Given the description of an element on the screen output the (x, y) to click on. 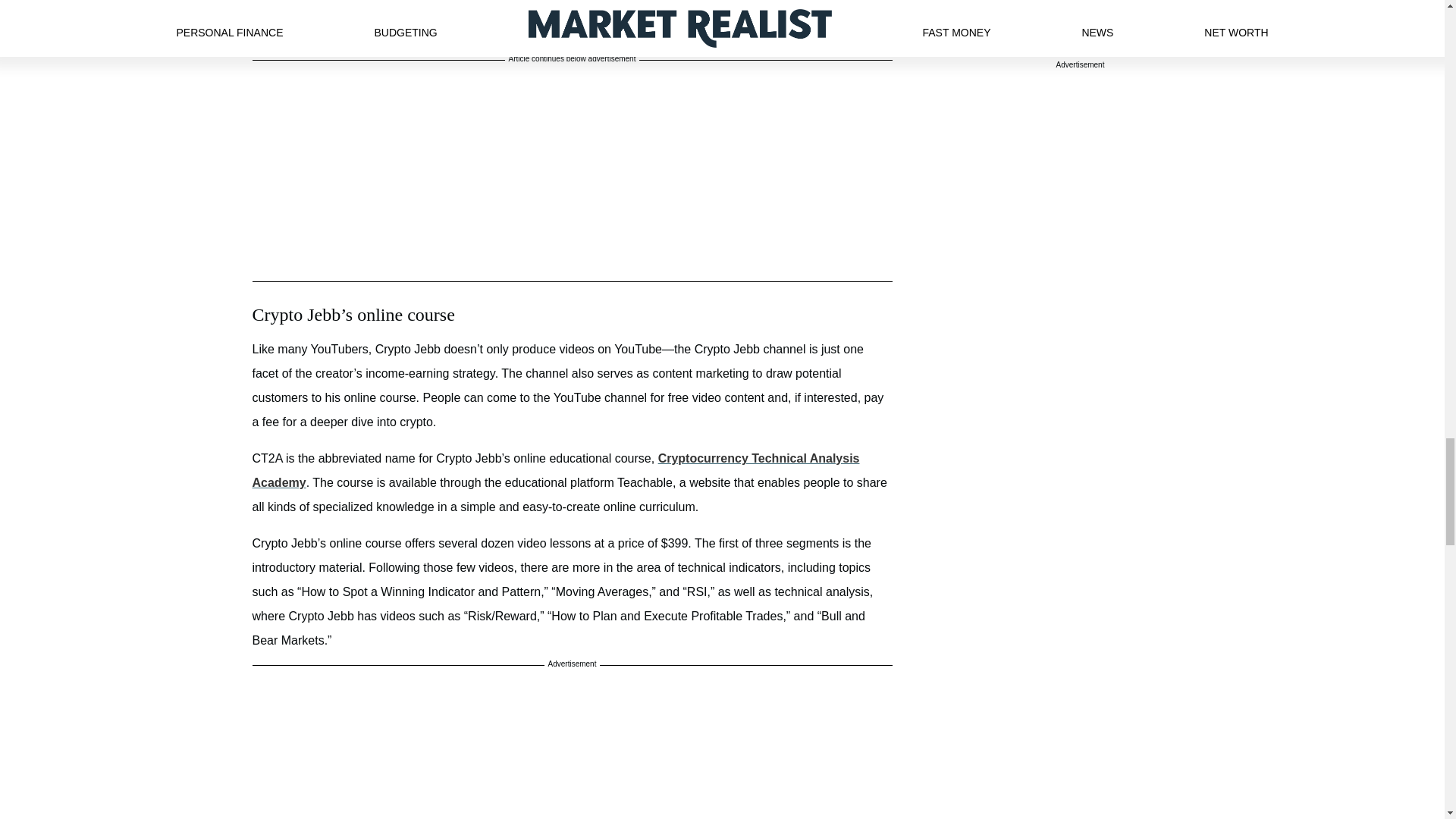
Cryptocurrency Technical Analysis Academy (555, 470)
